Given the description of an element on the screen output the (x, y) to click on. 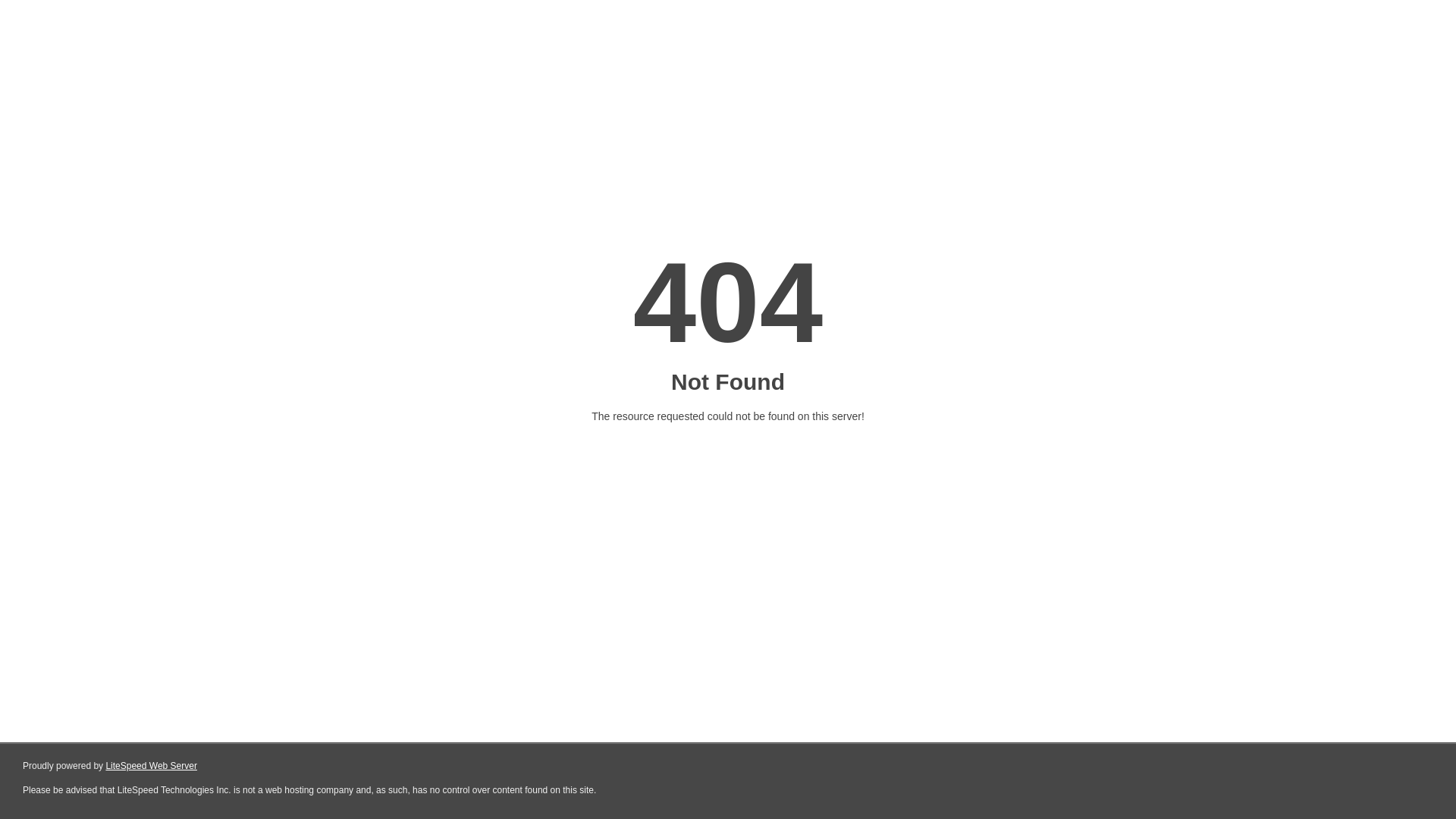
LiteSpeed Web Server Element type: text (151, 765)
